Given the description of an element on the screen output the (x, y) to click on. 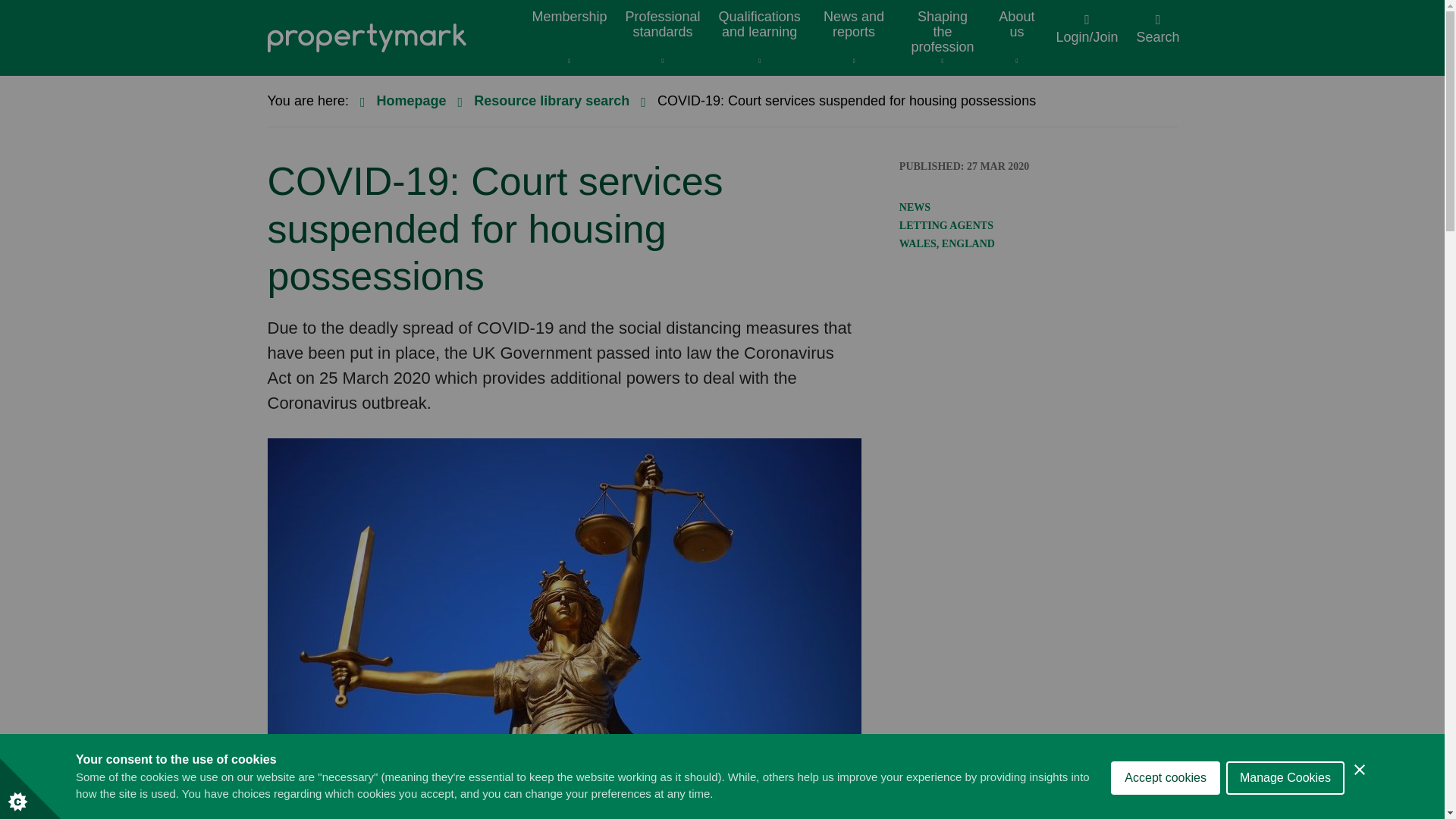
Manage Cookies (1284, 811)
Membership (569, 38)
